Given the description of an element on the screen output the (x, y) to click on. 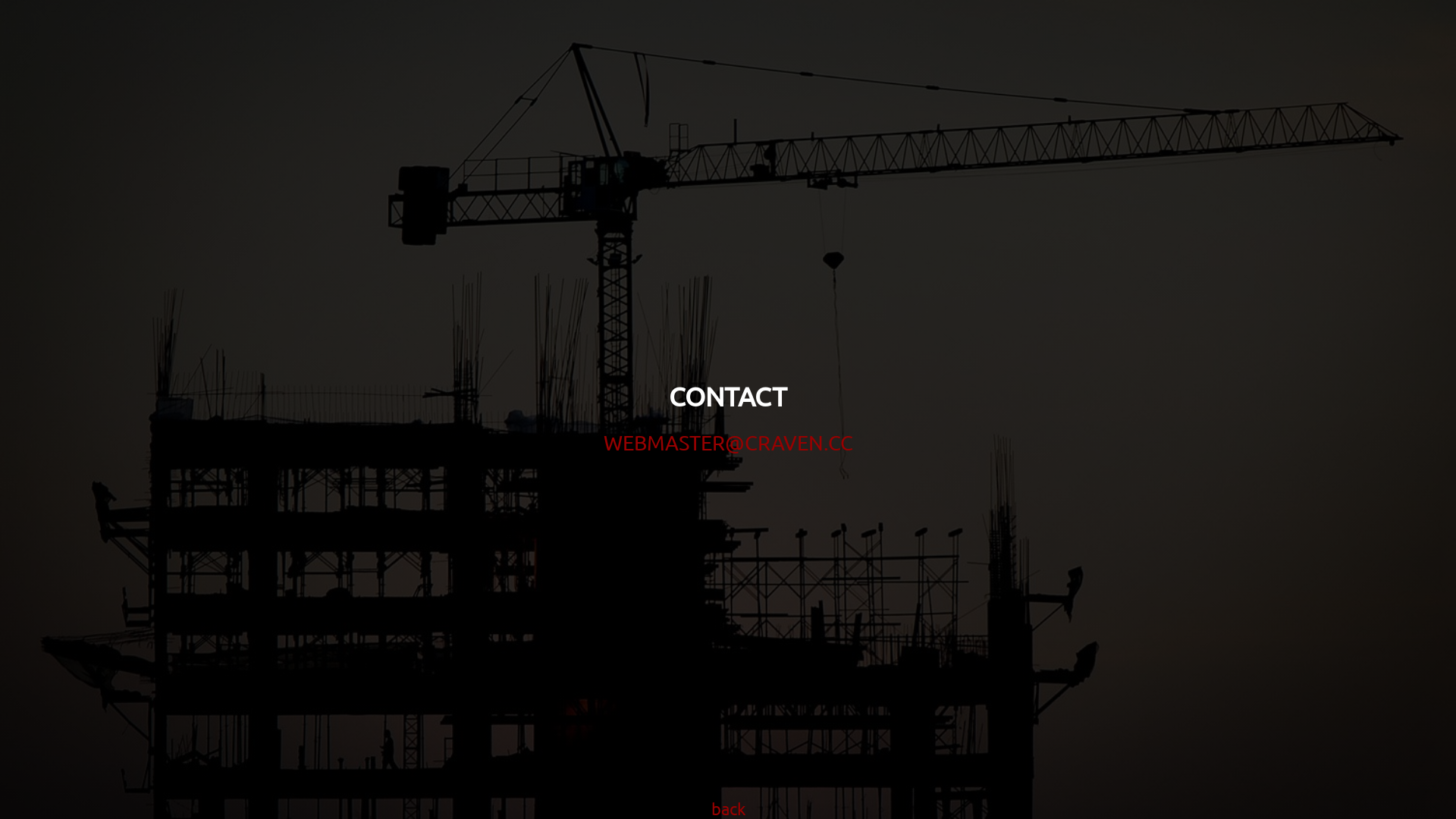
back Element type: text (728, 808)
WEBMASTER@CRAVEN.CC Element type: text (728, 442)
